Given the description of an element on the screen output the (x, y) to click on. 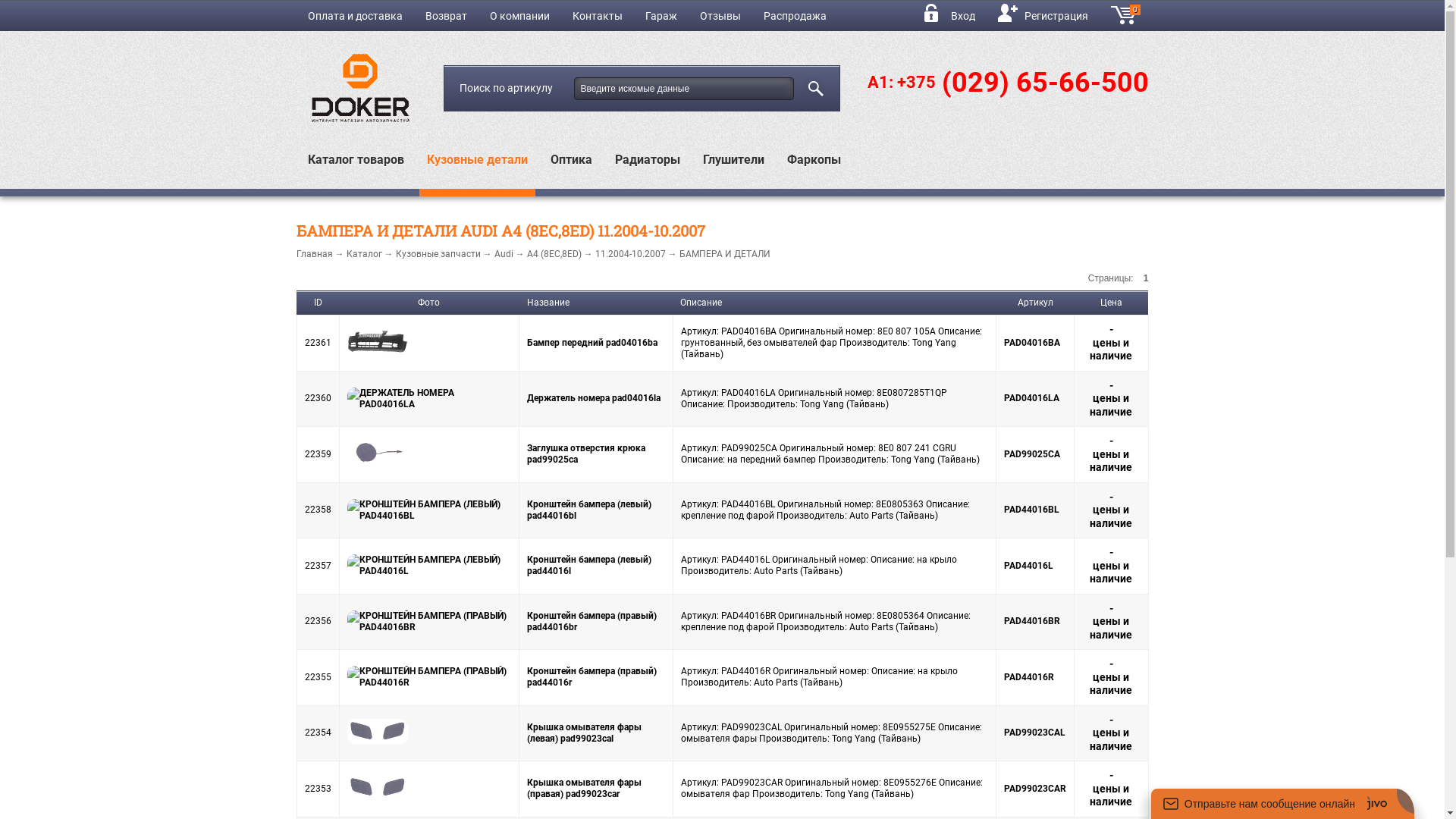
Audi Element type: text (503, 253)
PAD44016L Element type: text (1028, 565)
PAD44016R Element type: text (1029, 676)
PAD99025CA Element type: text (1032, 453)
PAD04016LA Element type: text (1031, 397)
PAD44016BR Element type: text (1032, 620)
PAD99023CAR Element type: text (1035, 788)
PAD04016BA Element type: text (1032, 342)
A4 (8EC,8ED) Element type: text (553, 253)
PAD99023CAL Element type: text (1034, 732)
PAD44016BL Element type: text (1031, 509)
11.2004-10.2007 Element type: text (629, 253)
